Given the description of an element on the screen output the (x, y) to click on. 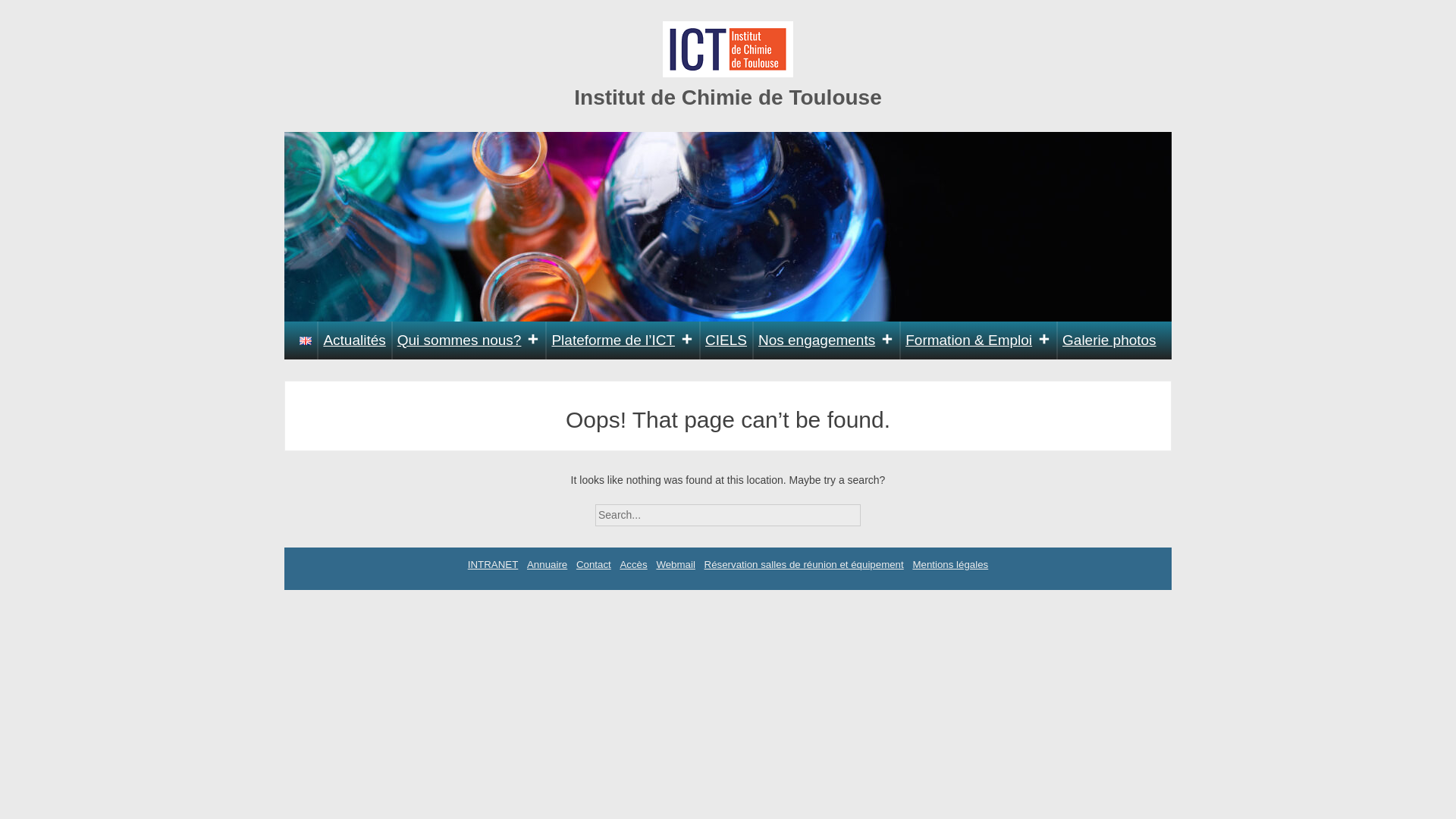
Institut de Chimie de Toulouse (727, 97)
CIELS (726, 340)
Qui sommes nous? (468, 340)
Search (873, 509)
Nos engagements (825, 340)
Search (873, 509)
